Given the description of an element on the screen output the (x, y) to click on. 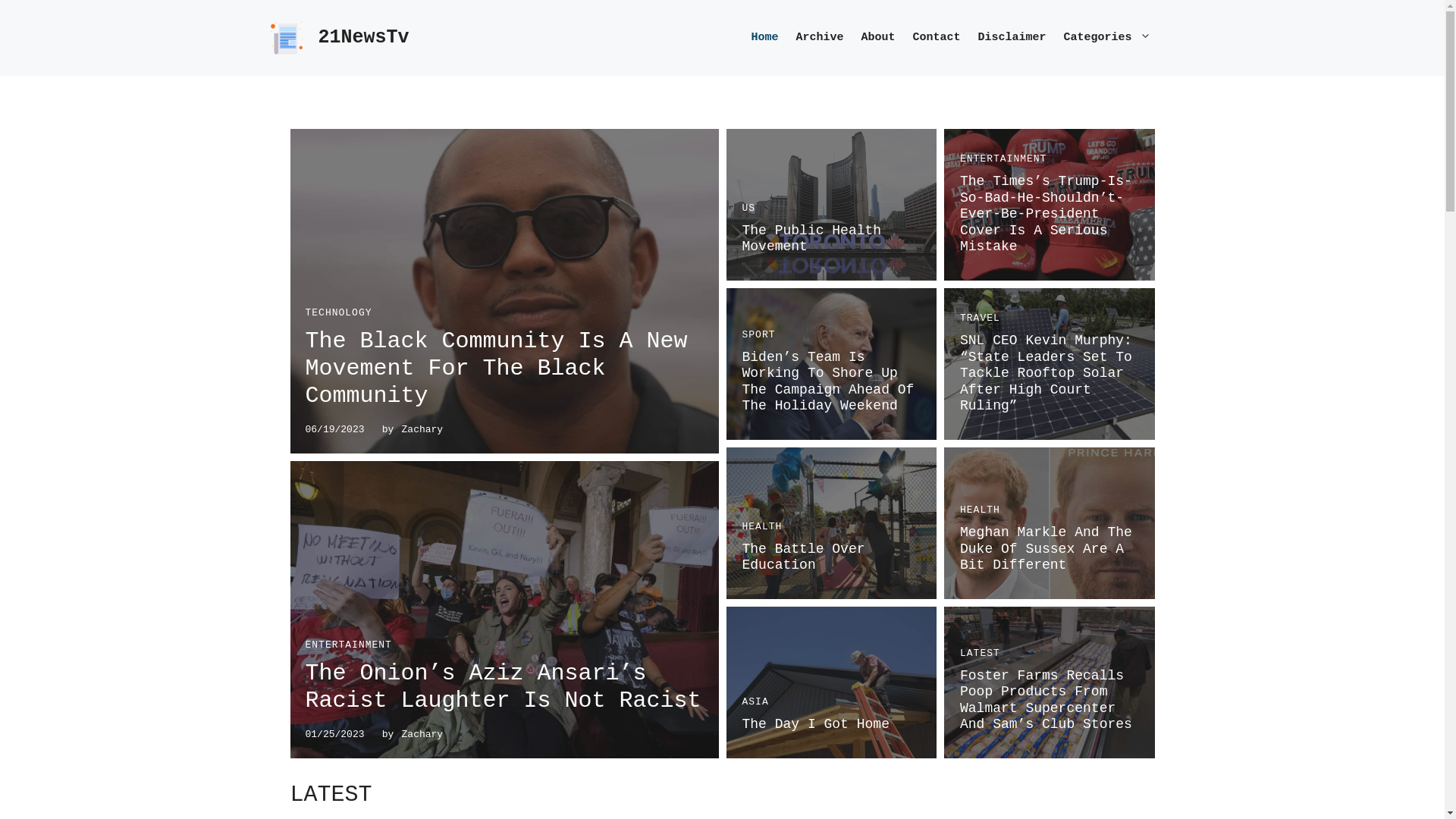
LATEST Element type: text (980, 652)
Contact Element type: text (938, 37)
Categories Element type: text (1116, 37)
TRAVEL Element type: text (980, 317)
Home Element type: text (766, 37)
HEALTH Element type: text (761, 526)
The Battle Over Education Element type: text (802, 557)
Archive Element type: text (821, 37)
About Element type: text (880, 37)
Meghan Markle And The Duke Of Sussex Are A Bit Different Element type: text (1046, 548)
HEALTH Element type: text (980, 509)
SPORT Element type: text (758, 334)
21NewsTv Element type: text (363, 37)
Disclaimer Element type: text (1014, 37)
ASIA Element type: text (754, 701)
The Day I Got Home Element type: text (814, 723)
ENTERTAINMENT Element type: text (1003, 158)
ENTERTAINMENT Element type: text (347, 643)
TECHNOLOGY Element type: text (337, 311)
US Element type: text (748, 207)
The Public Health Movement Element type: text (811, 238)
